Given the description of an element on the screen output the (x, y) to click on. 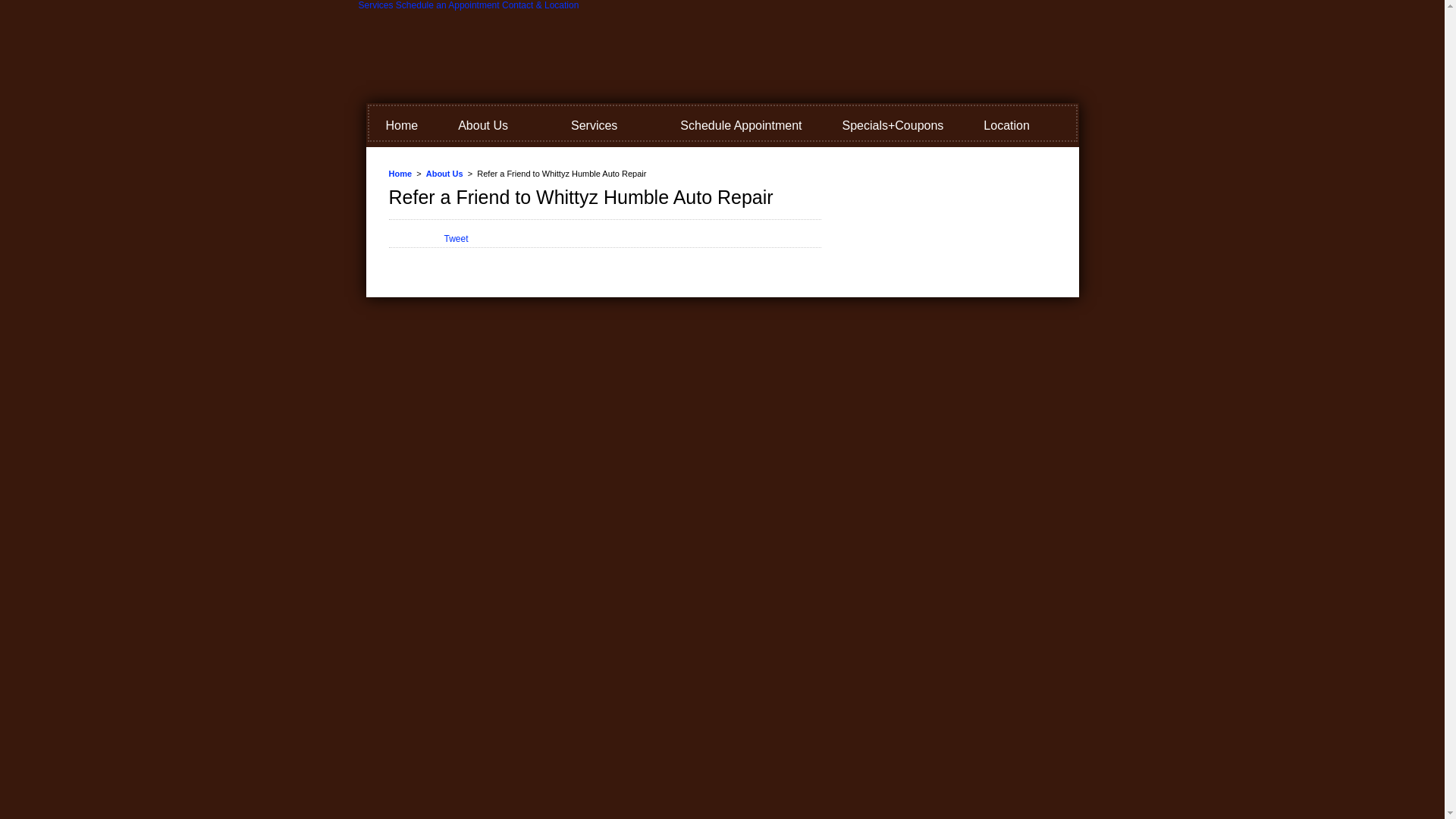
Services (605, 126)
Services (375, 5)
Schedule an Appointment (447, 5)
About Us (494, 126)
